Given the description of an element on the screen output the (x, y) to click on. 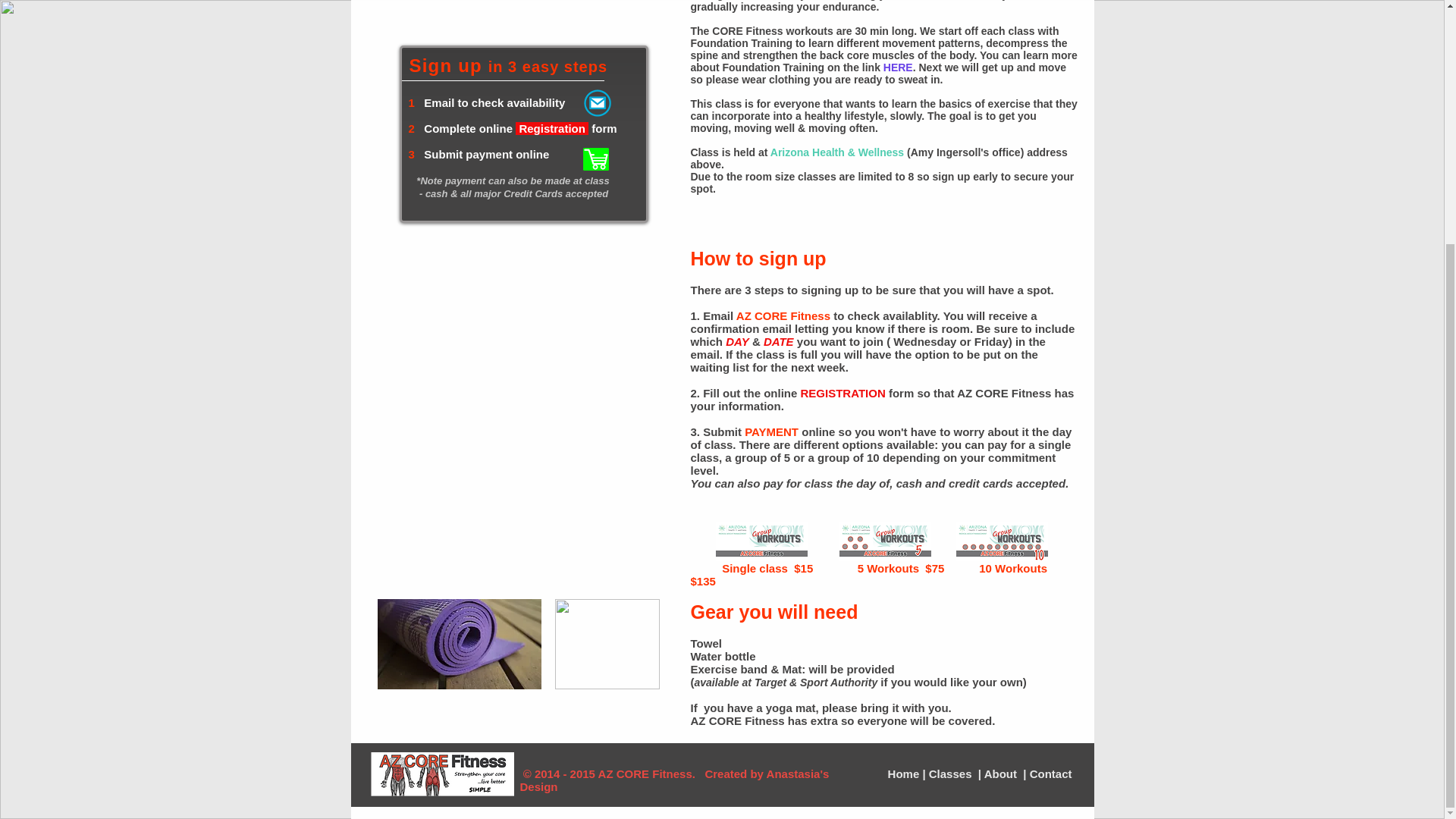
Classes  (951, 773)
PAYMENT (770, 431)
Home (905, 773)
About  (1002, 773)
Registration  (553, 128)
AZ CORE Fitness (782, 315)
REGISTRATION (842, 392)
HERE (897, 67)
Contact (1048, 773)
